Given the description of an element on the screen output the (x, y) to click on. 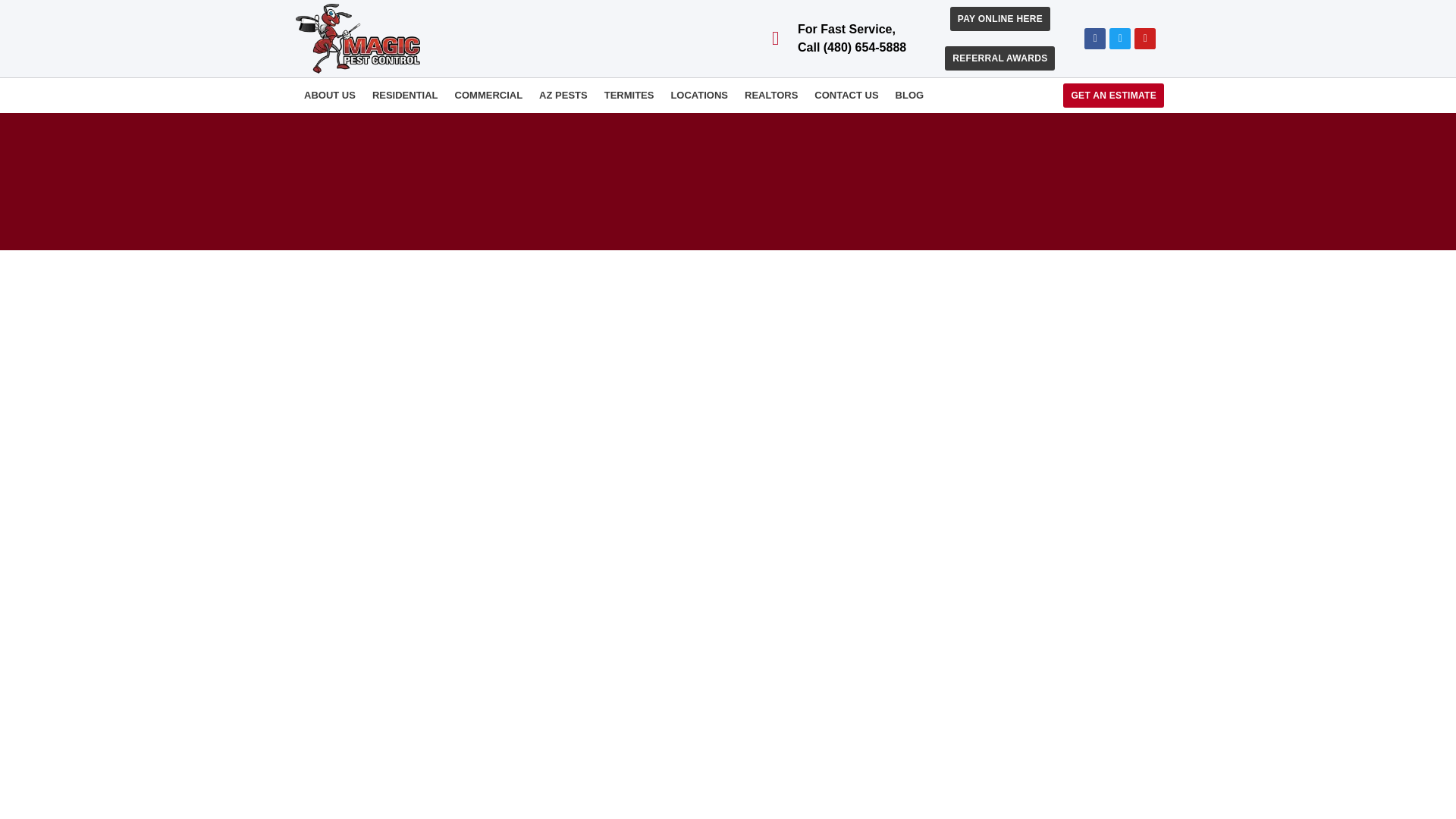
RESIDENTIAL (405, 95)
PAY ONLINE HERE (999, 18)
AZ PESTS (563, 95)
REFERRAL AWARDS (999, 57)
ABOUT US (329, 95)
COMMERCIAL (488, 95)
